Given the description of an element on the screen output the (x, y) to click on. 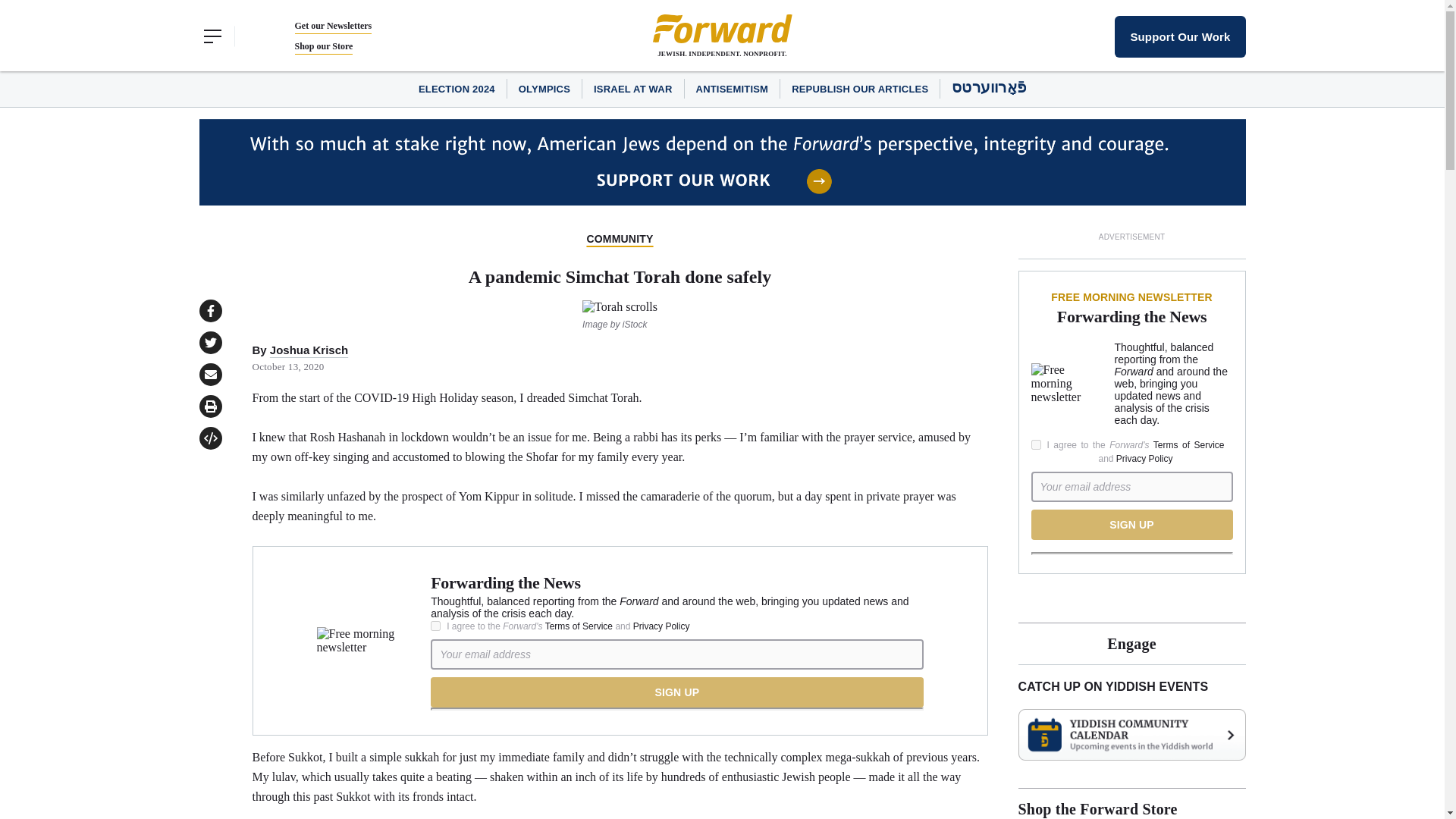
ELECTION 2024 (457, 89)
Click to open publish popup (209, 437)
Get our Newsletters (332, 26)
Sign Up (1131, 524)
Support Our Work (1179, 35)
ISRAEL AT WAR (632, 89)
OLYMPICS (544, 89)
Sign Up (676, 692)
Yes (435, 625)
Yes (1035, 444)
Shop our Store (323, 46)
